Given the description of an element on the screen output the (x, y) to click on. 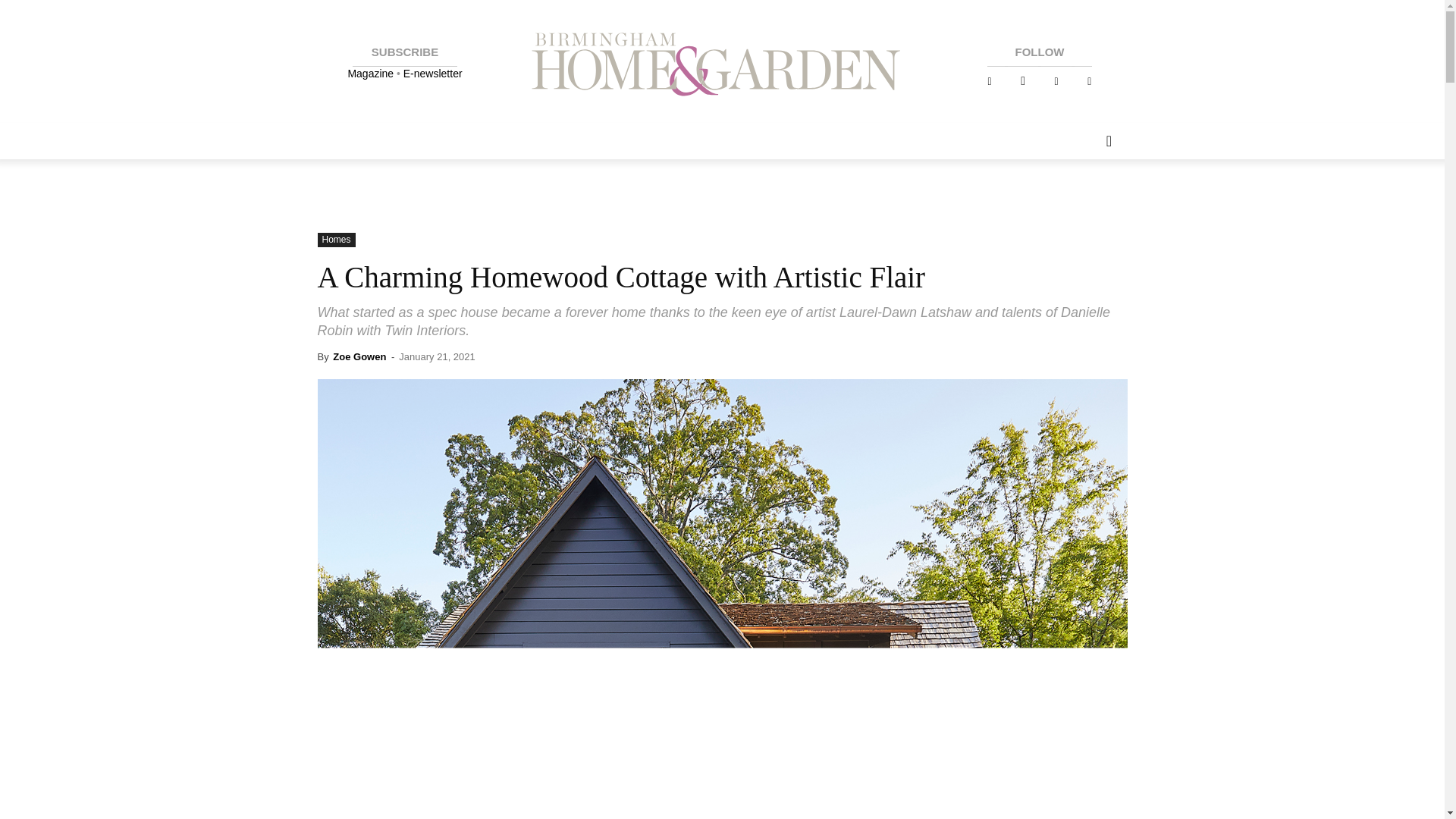
TikTok (1089, 81)
Facebook (989, 81)
Instagram (1022, 81)
E-newsletter (433, 73)
Magazine (371, 73)
Pinterest (1056, 81)
